Given the description of an element on the screen output the (x, y) to click on. 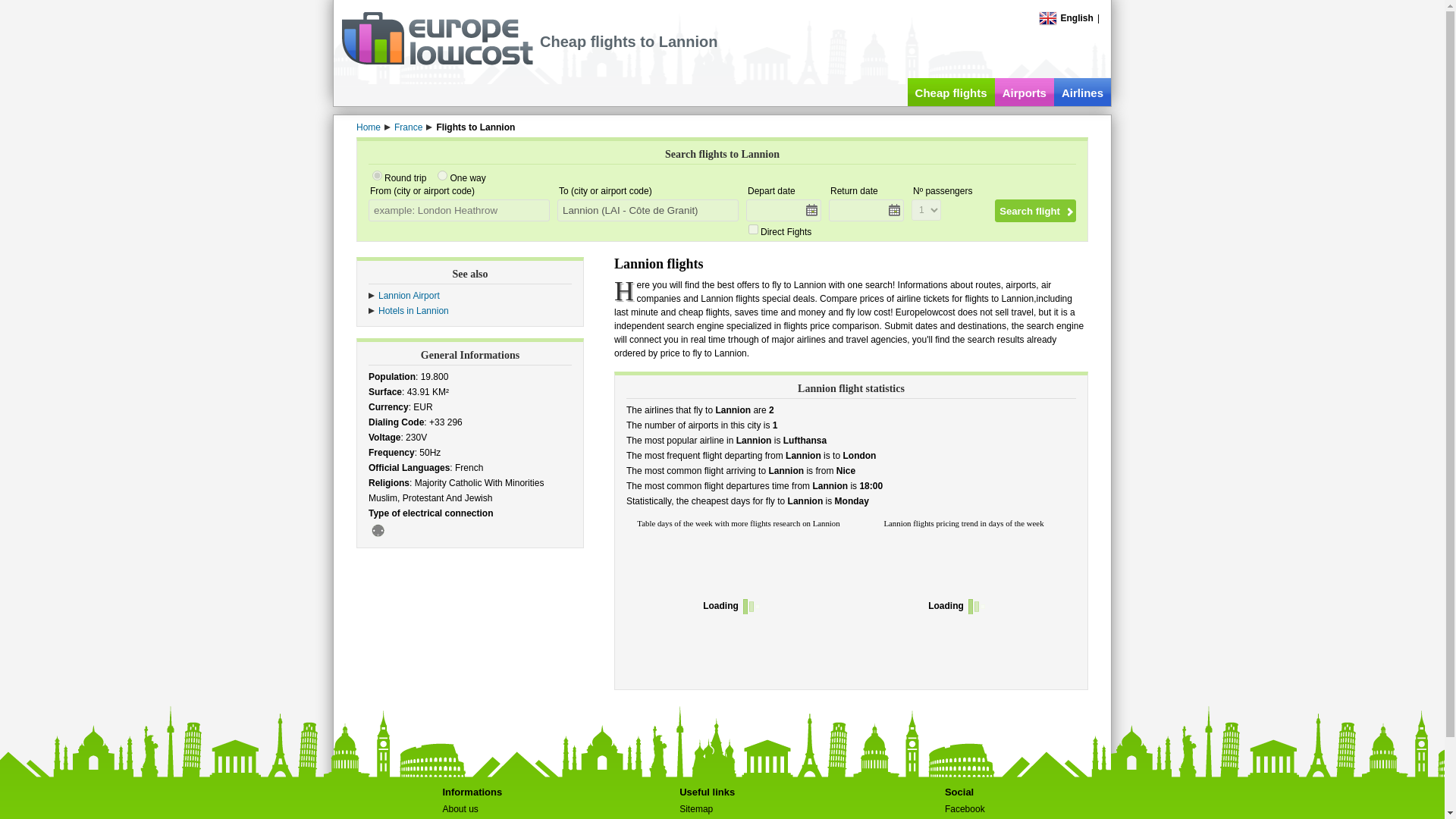
Home (368, 127)
RoundTrip (376, 175)
Cheap flights (950, 91)
Hotels in Lannion (413, 310)
Airlines (1082, 91)
Sitemap (696, 808)
Site map (696, 808)
About us (459, 808)
Facebook (964, 808)
true (753, 229)
